Given the description of an element on the screen output the (x, y) to click on. 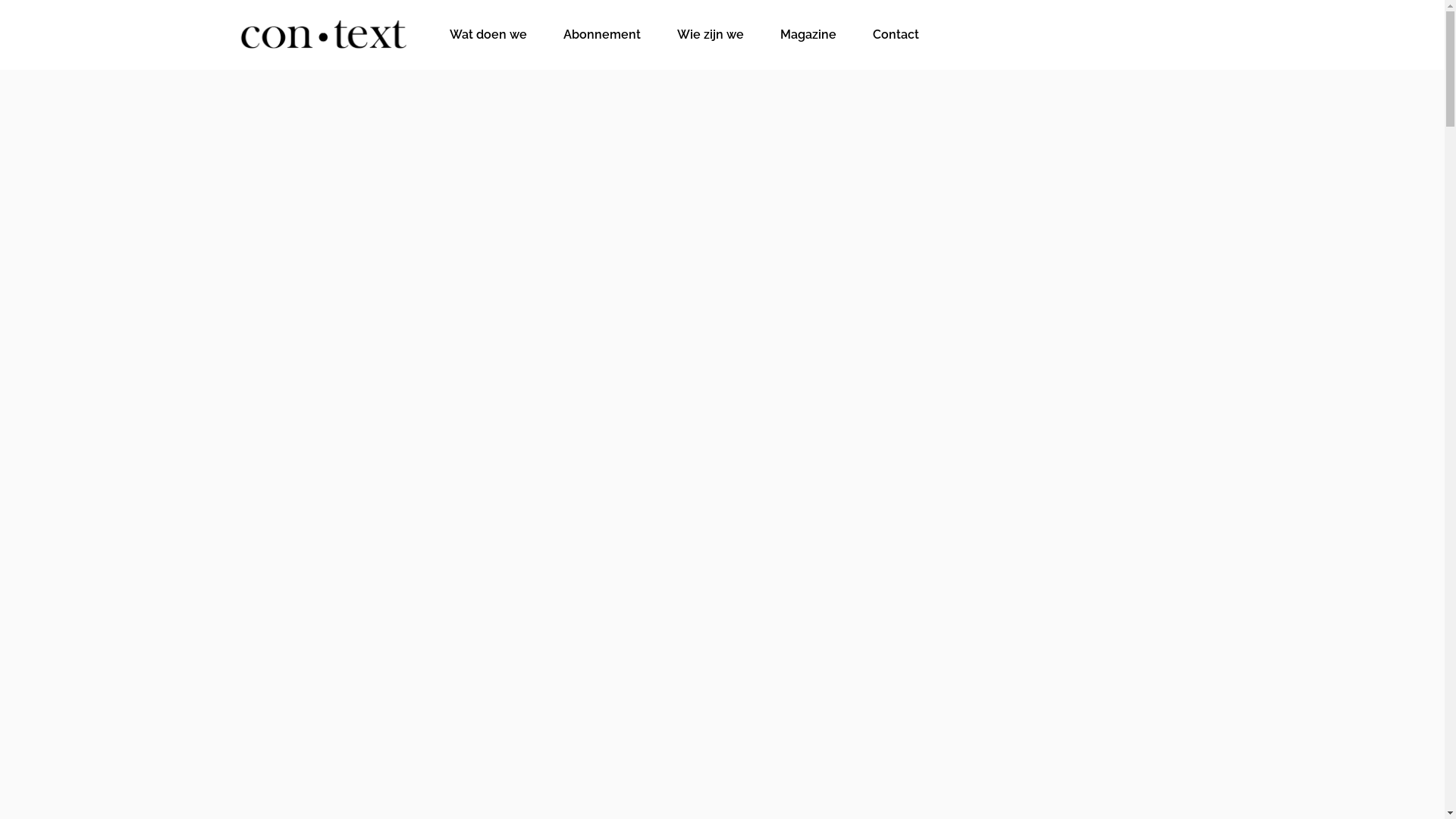
Abonnement Element type: text (601, 34)
Contact Element type: text (895, 34)
Wat doen we Element type: text (488, 34)
Wie zijn we Element type: text (710, 34)
Magazine Element type: text (808, 34)
